Given the description of an element on the screen output the (x, y) to click on. 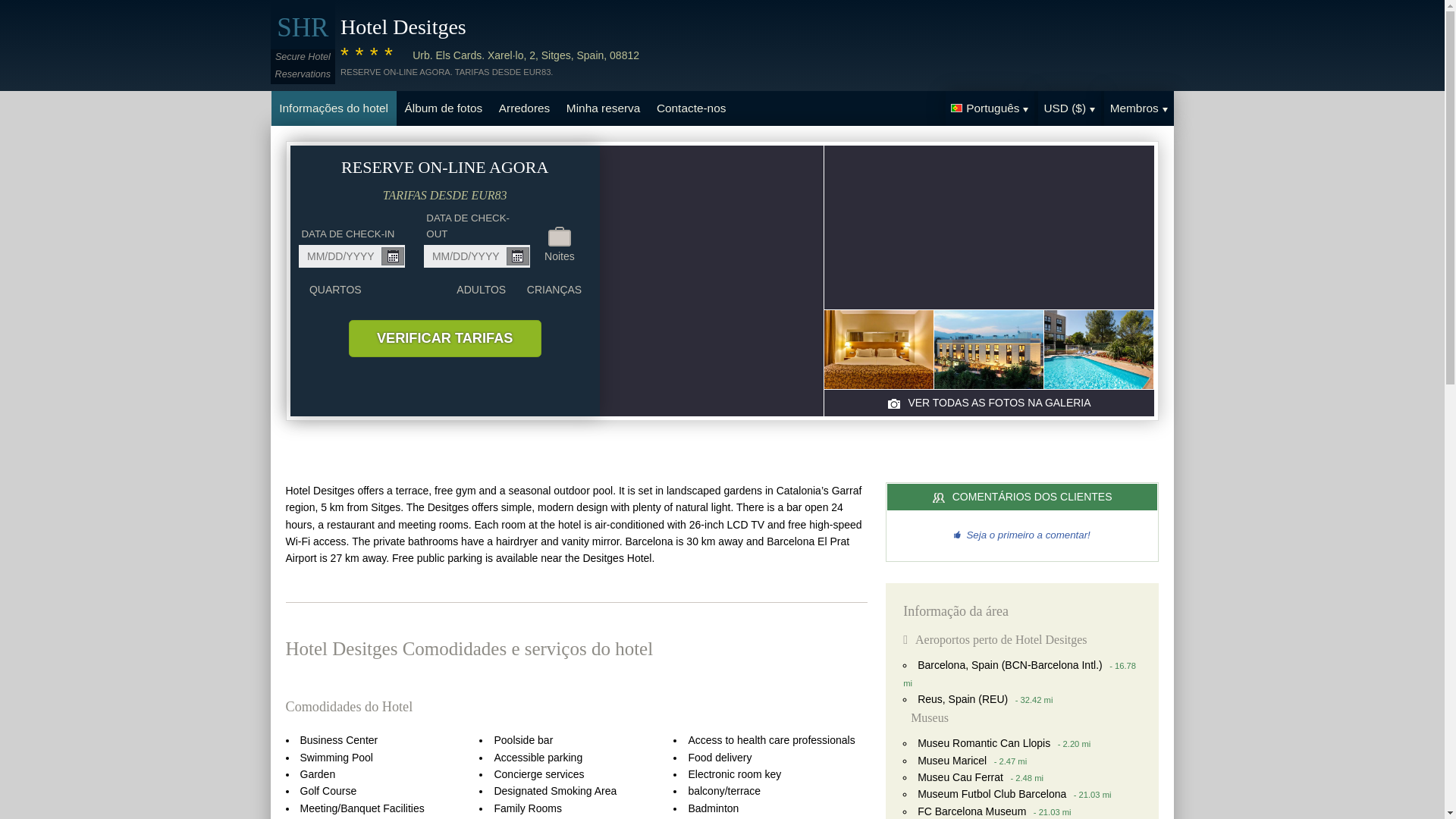
Arredores (523, 107)
Minha reserva (602, 107)
Contacte-nos (690, 107)
